Given the description of an element on the screen output the (x, y) to click on. 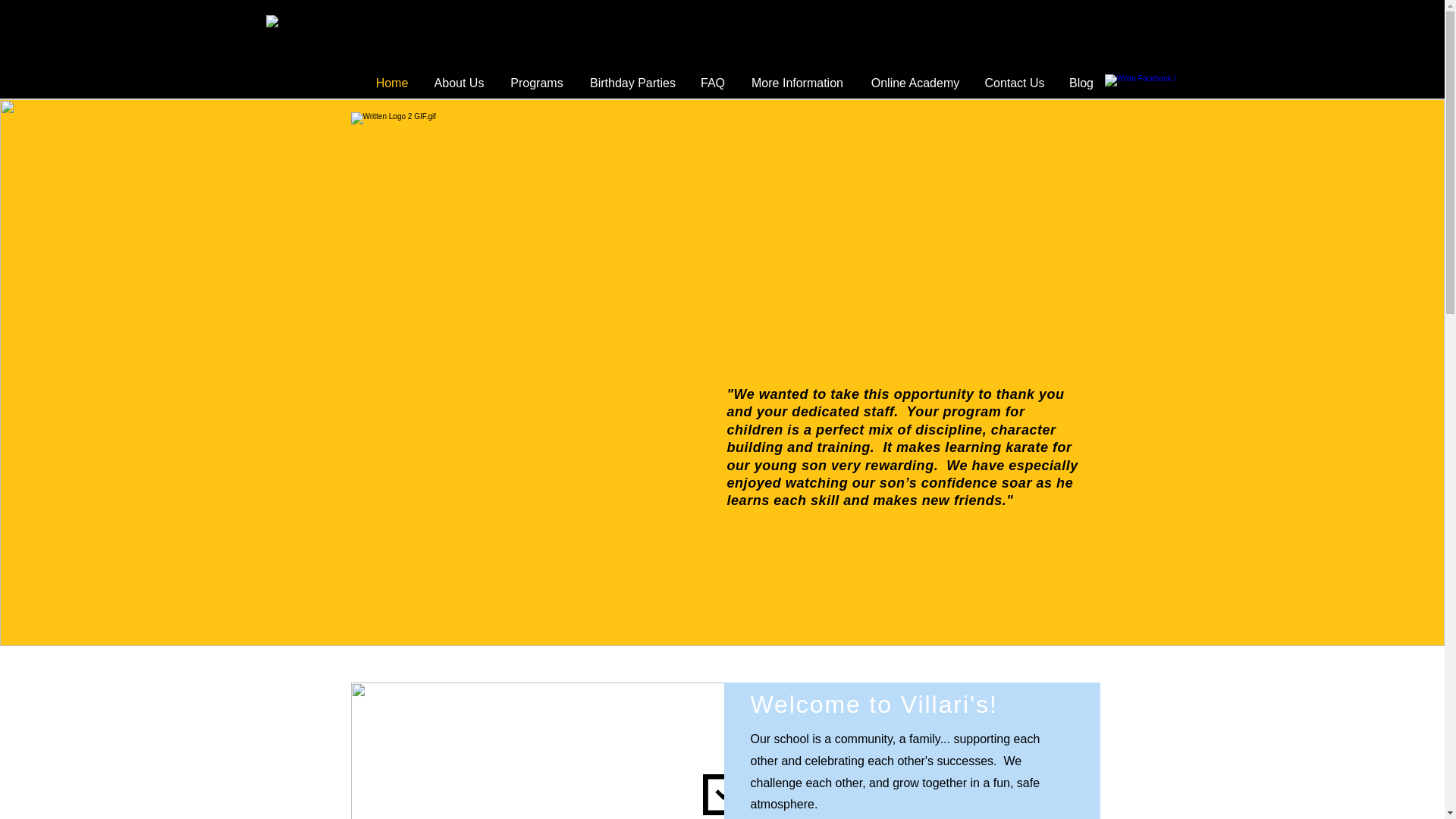
Contact Us (1014, 82)
Birthday Parties (632, 82)
Online Academy (915, 82)
Blog (1081, 82)
FAQ (712, 82)
Home (391, 82)
